Given the description of an element on the screen output the (x, y) to click on. 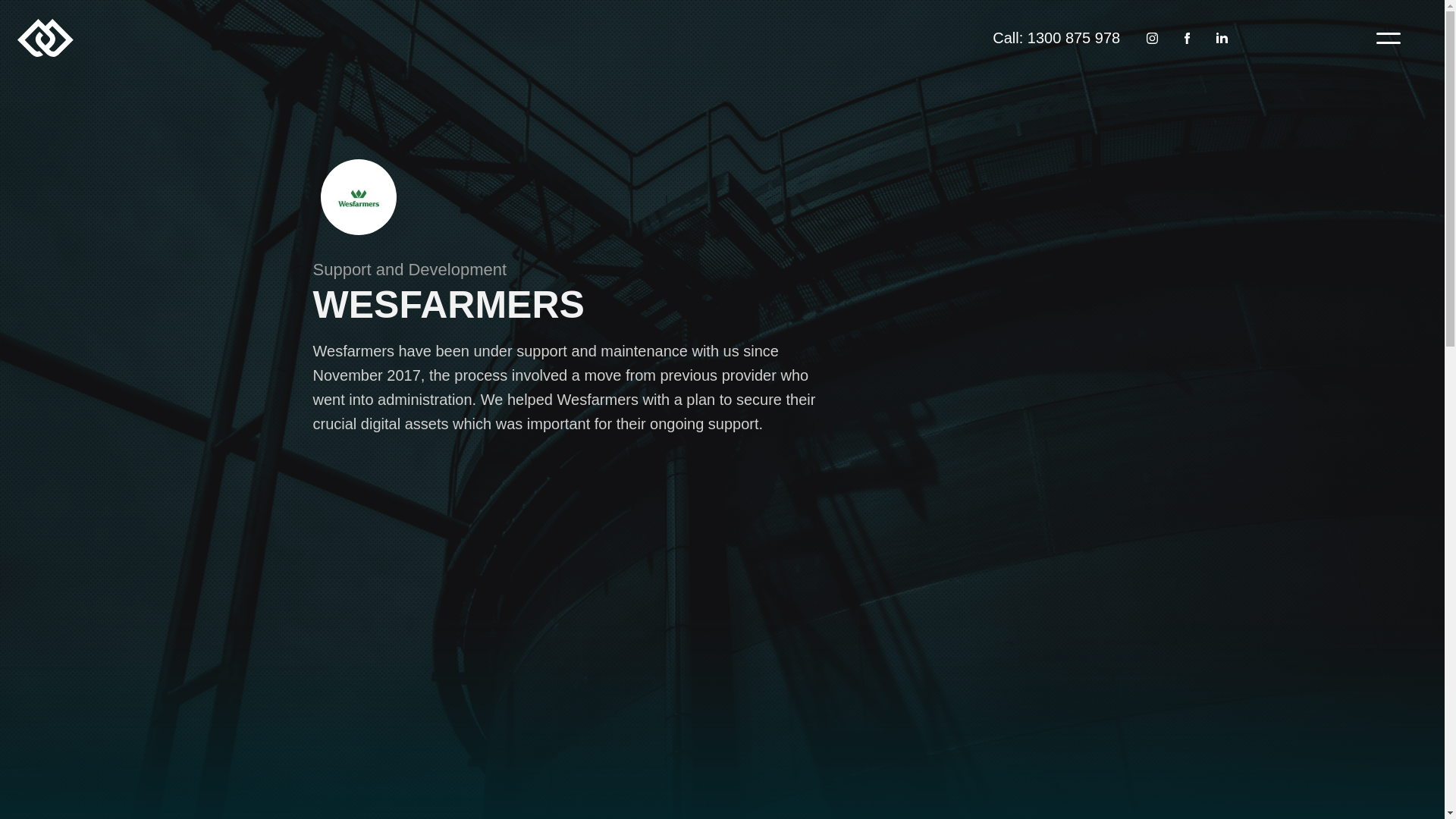
1300 875 978 Element type: text (1073, 37)
